Given the description of an element on the screen output the (x, y) to click on. 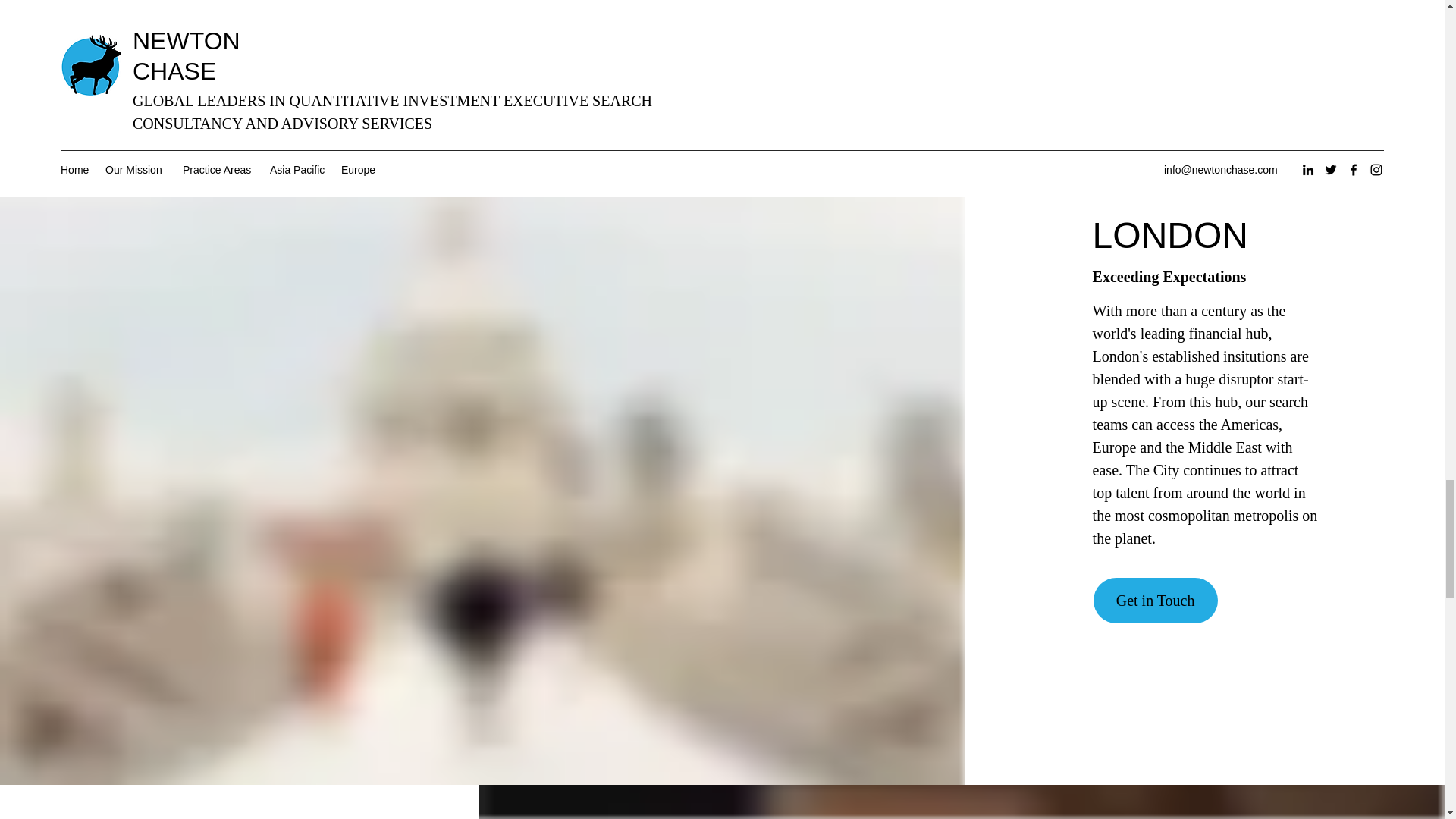
Get in Touch (1155, 600)
